Given the description of an element on the screen output the (x, y) to click on. 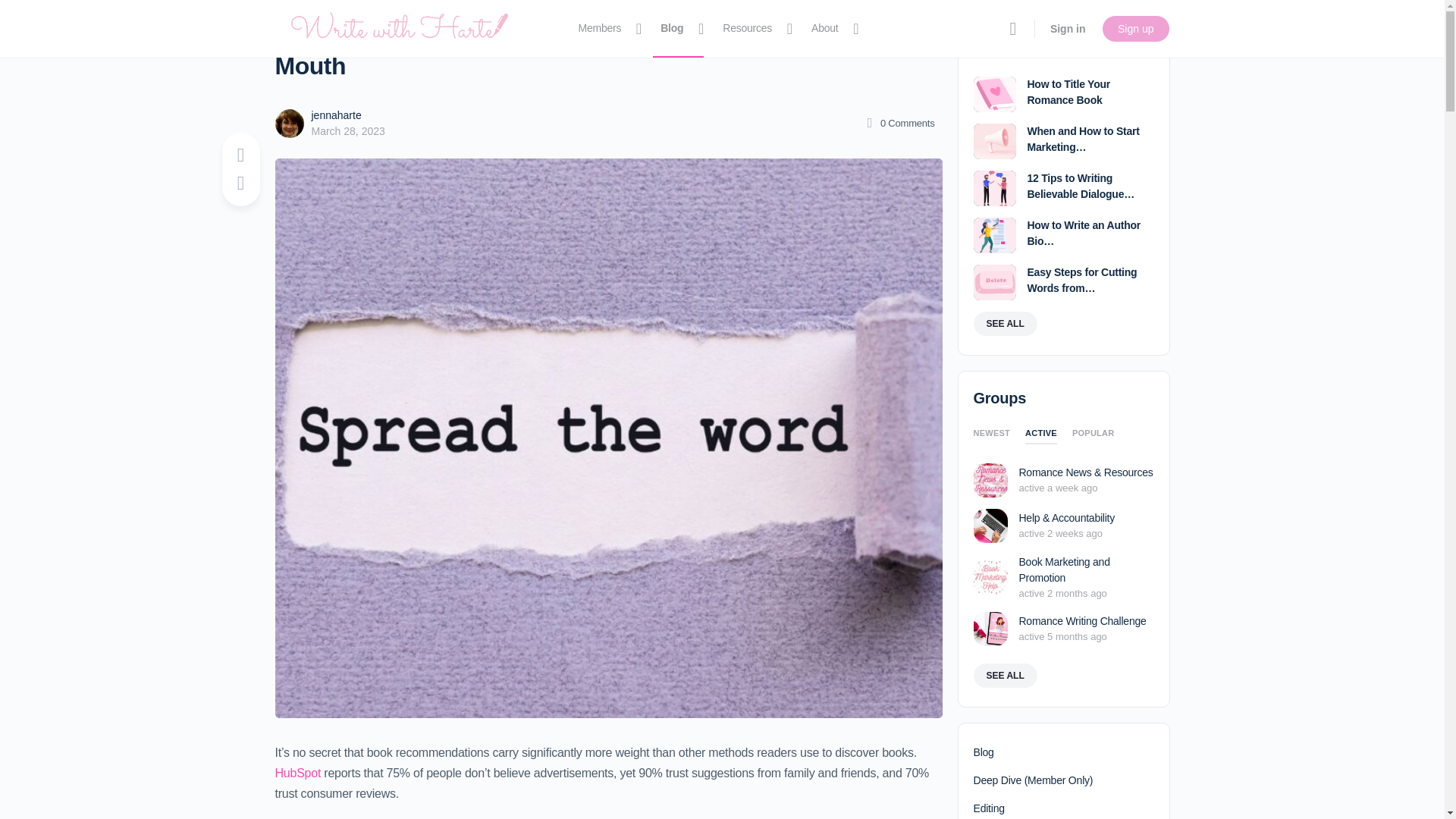
Members (606, 28)
About (831, 28)
Sign up (1135, 28)
Sign in (1067, 28)
Blog (677, 28)
Resources (753, 28)
